Given the description of an element on the screen output the (x, y) to click on. 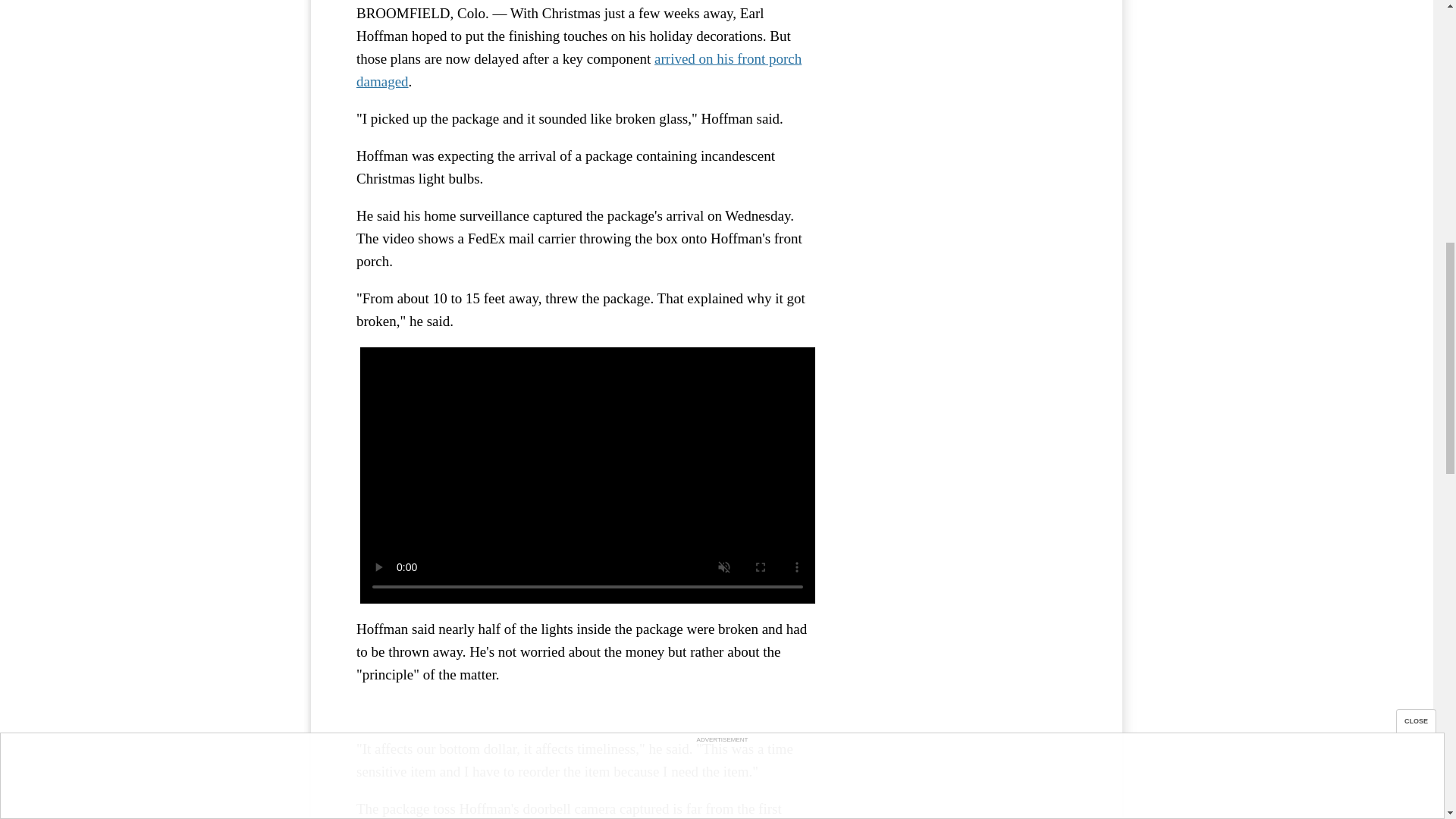
3rd party ad content (962, 50)
